Given the description of an element on the screen output the (x, y) to click on. 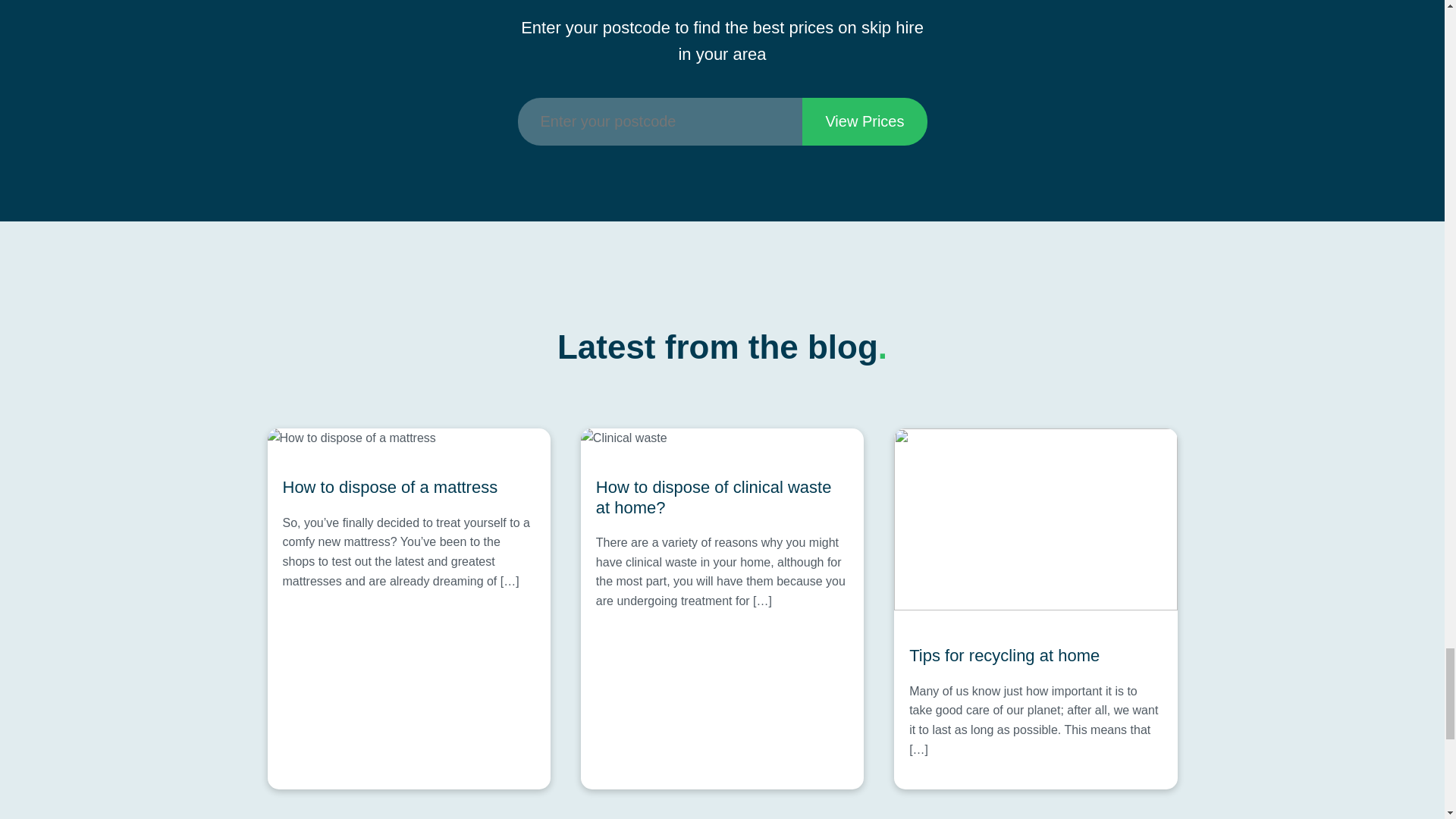
How to dispose of clinical waste at home? (721, 497)
View Prices (864, 121)
Tips for recycling at home (1034, 655)
View Prices (864, 121)
View Prices (864, 121)
How to dispose of a mattress (408, 487)
